Given the description of an element on the screen output the (x, y) to click on. 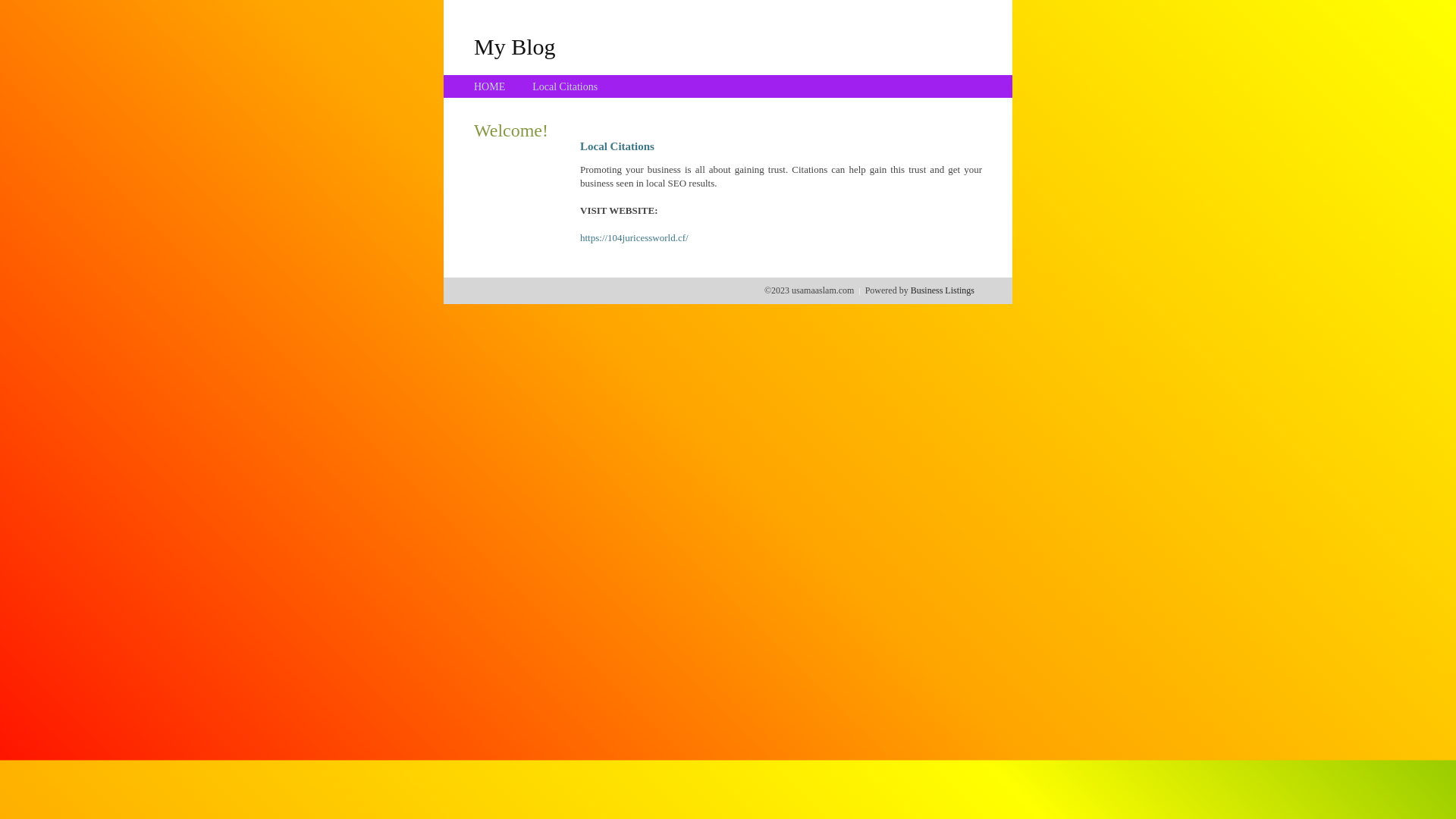
HOME Element type: text (489, 86)
My Blog Element type: text (514, 46)
Local Citations Element type: text (564, 86)
https://104juricessworld.cf/ Element type: text (634, 237)
Business Listings Element type: text (942, 290)
